Given the description of an element on the screen output the (x, y) to click on. 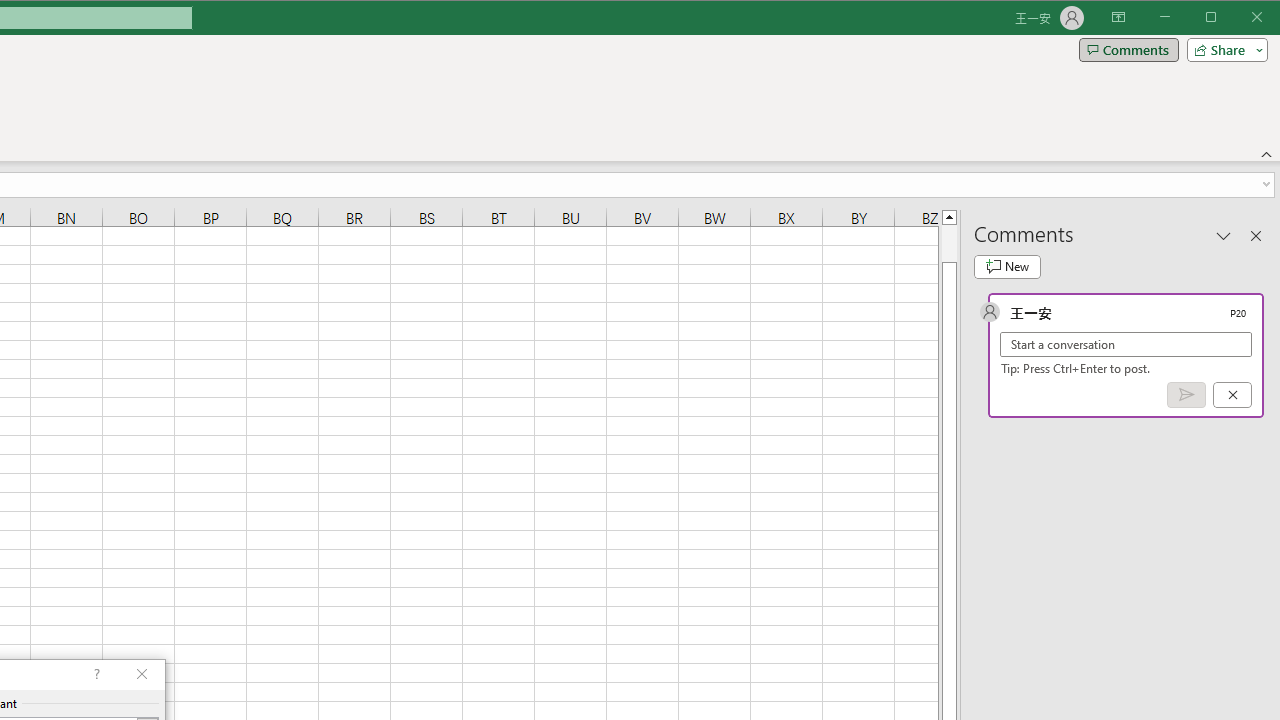
Page up (948, 243)
Post comment (Ctrl + Enter) (1186, 395)
Cancel (1232, 395)
Start a conversation (1126, 344)
